Given the description of an element on the screen output the (x, y) to click on. 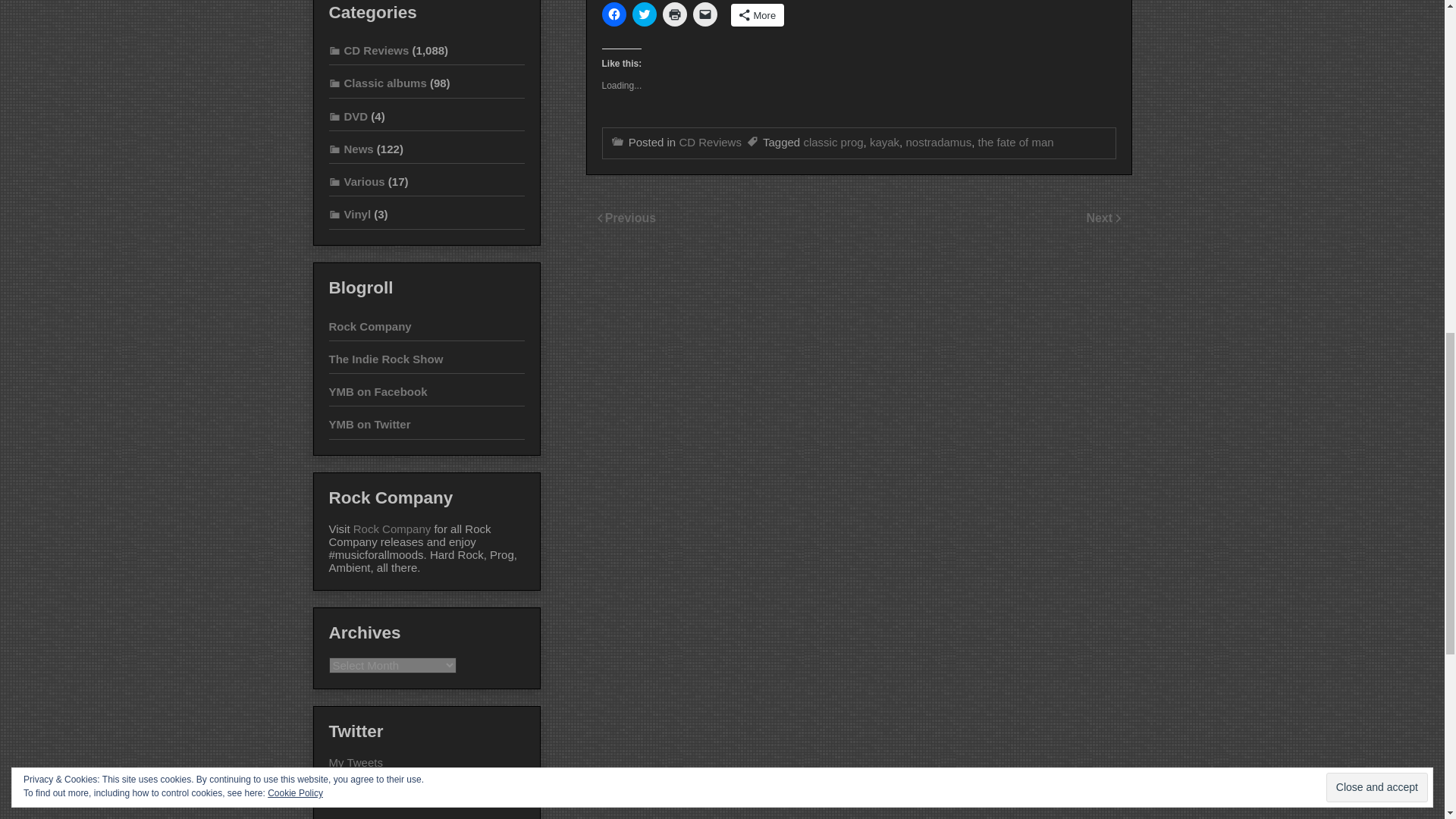
CD Reviews (709, 141)
classic prog (833, 141)
the fate of man (1016, 141)
Click to share on Twitter (643, 14)
More (757, 15)
Click to print (674, 14)
The Indie Rock show podcast on Future Beautiful Radio (386, 358)
Vinyl (350, 214)
Previous (630, 217)
News (351, 148)
Classic albums (377, 82)
nostradamus (938, 141)
CD Reviews (369, 50)
Various (357, 181)
